Given the description of an element on the screen output the (x, y) to click on. 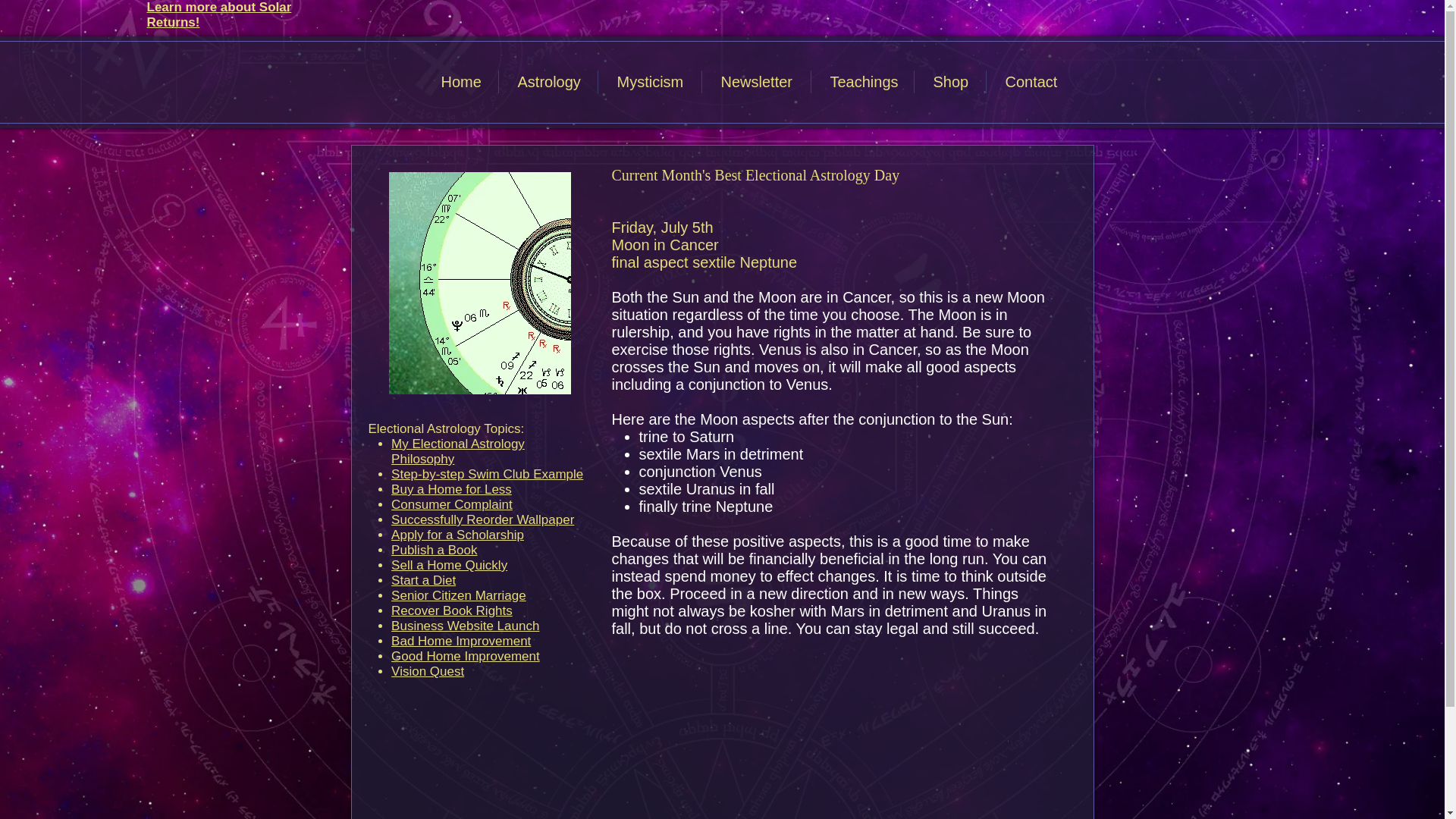
Recover Book Rights (451, 610)
My Electional Astrology Philosophy (457, 451)
Consumer Complaint (451, 504)
Start a Diet (423, 580)
Shop (949, 81)
Sell a Home Quickly (448, 564)
Business Website Launch (464, 626)
Newsletter (755, 81)
Publish a Book (434, 549)
Buy a Home for Less (451, 489)
Step-by-step Swim Club Example (487, 473)
Teachings (862, 81)
Good Home Improvement (465, 656)
Bad Home Improvement (461, 640)
Senior Citizen Marriage (458, 595)
